Given the description of an element on the screen output the (x, y) to click on. 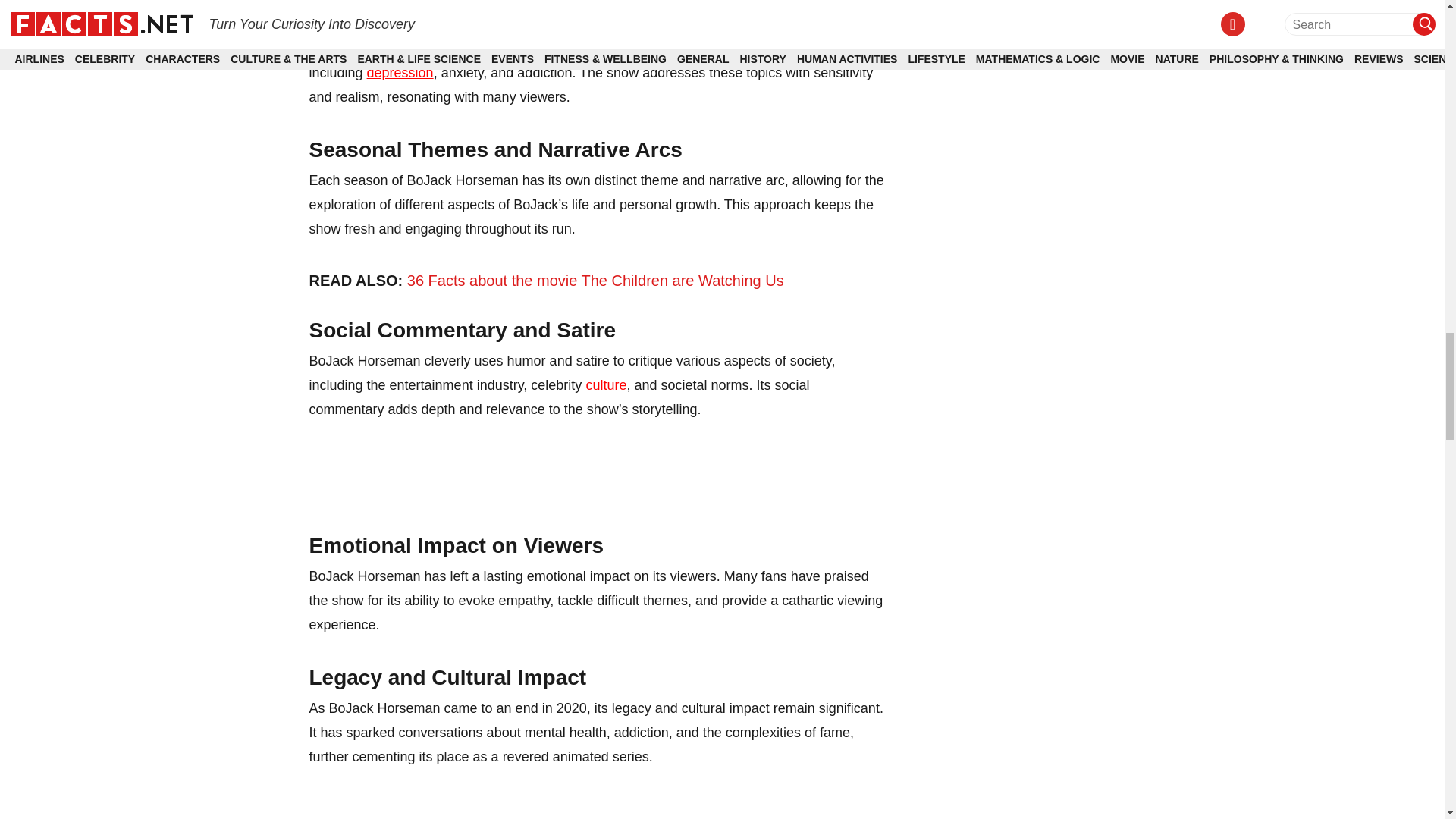
culture (605, 385)
depression (399, 72)
